Given the description of an element on the screen output the (x, y) to click on. 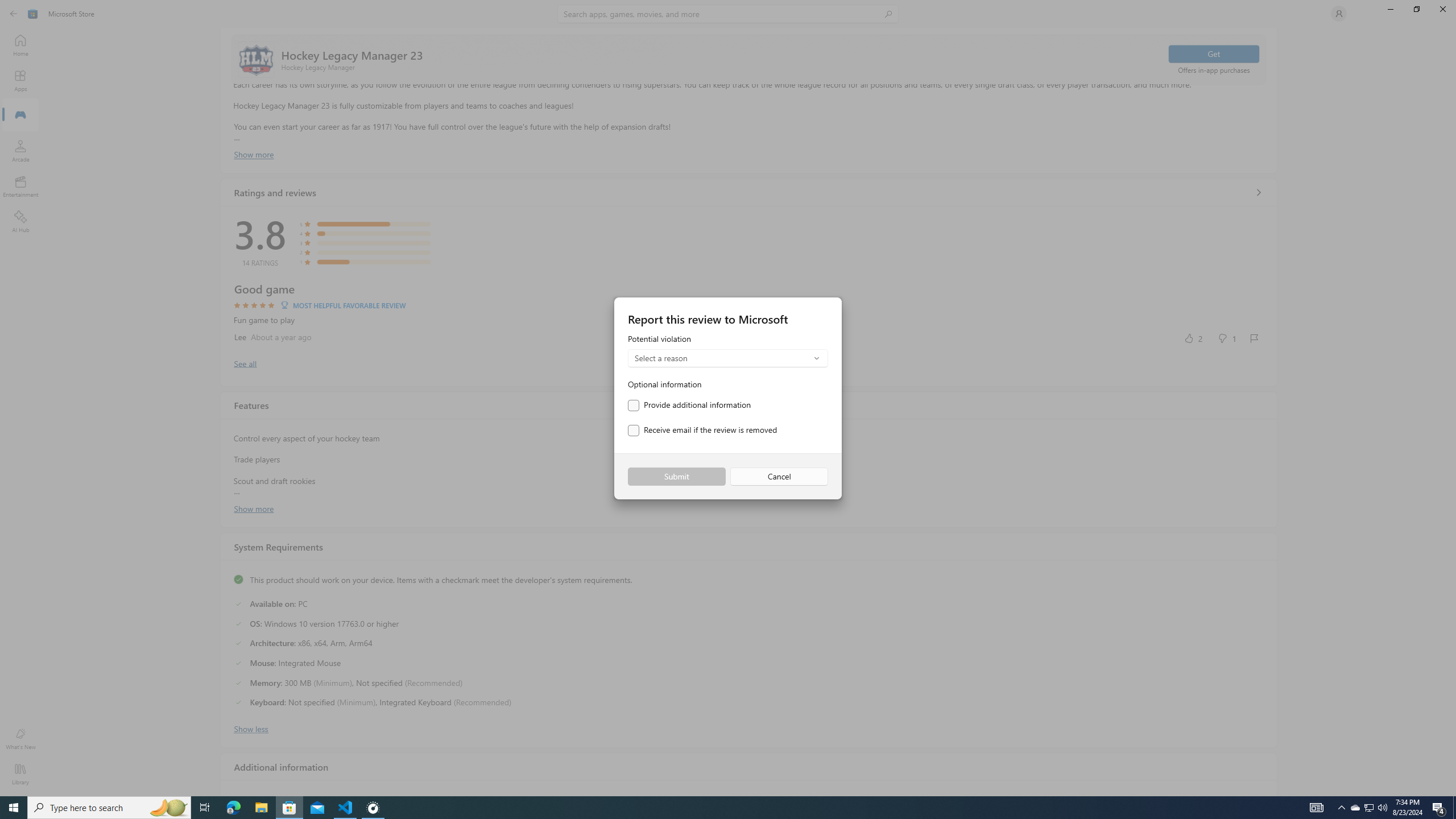
Cancel (779, 476)
